Given the description of an element on the screen output the (x, y) to click on. 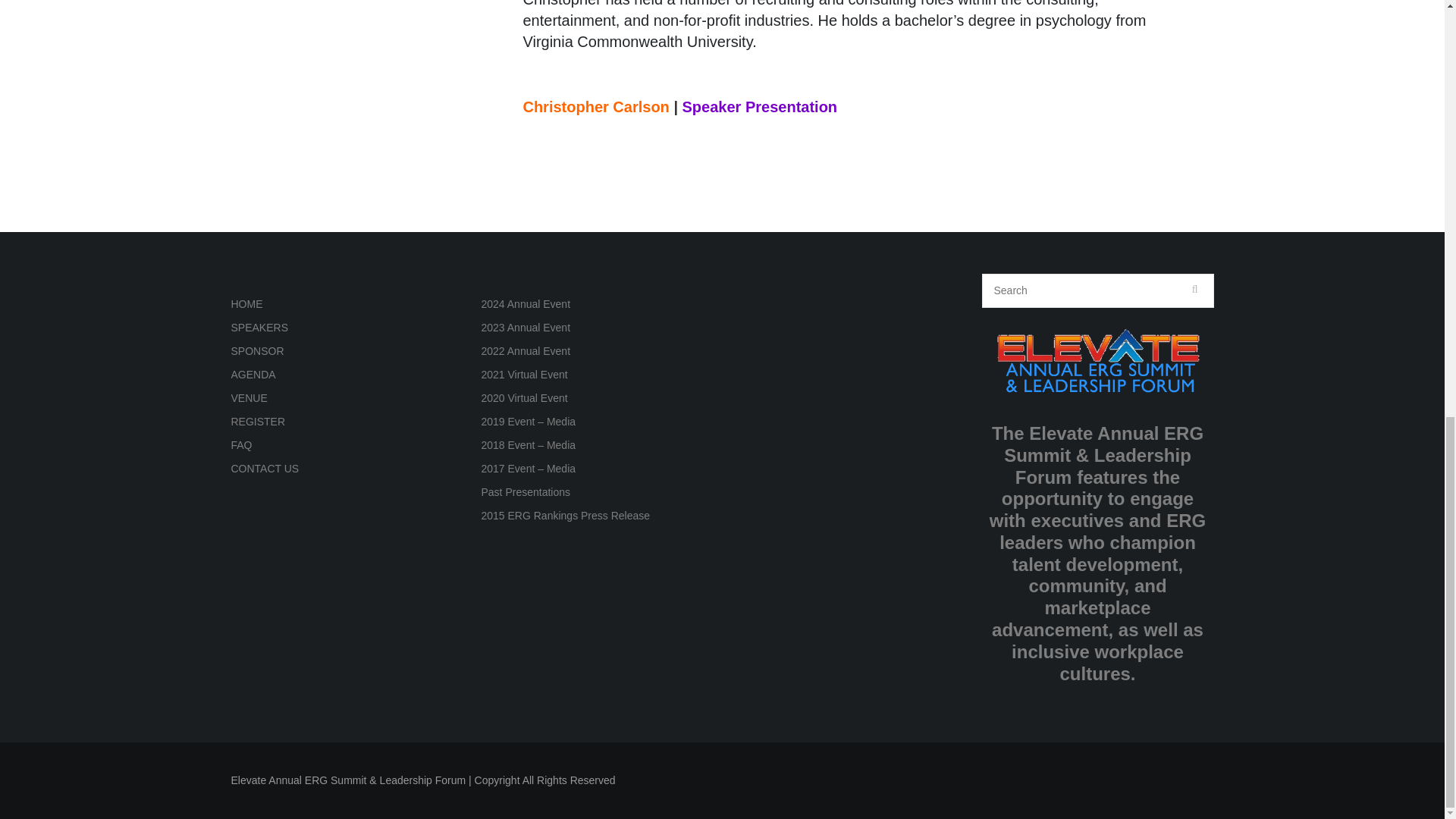
CONTACT US (264, 468)
Past Presentations (525, 491)
REGISTER (257, 421)
HOME (246, 304)
SPEAKERS (258, 327)
2020 Virtual Event (523, 398)
2021 Virtual Event (523, 374)
AGENDA (252, 374)
2022 Annual Event (525, 350)
FAQ (240, 444)
SPONSOR (256, 350)
2024 Annual Event (525, 304)
2023 Annual Event (525, 327)
VENUE (248, 398)
